Given the description of an element on the screen output the (x, y) to click on. 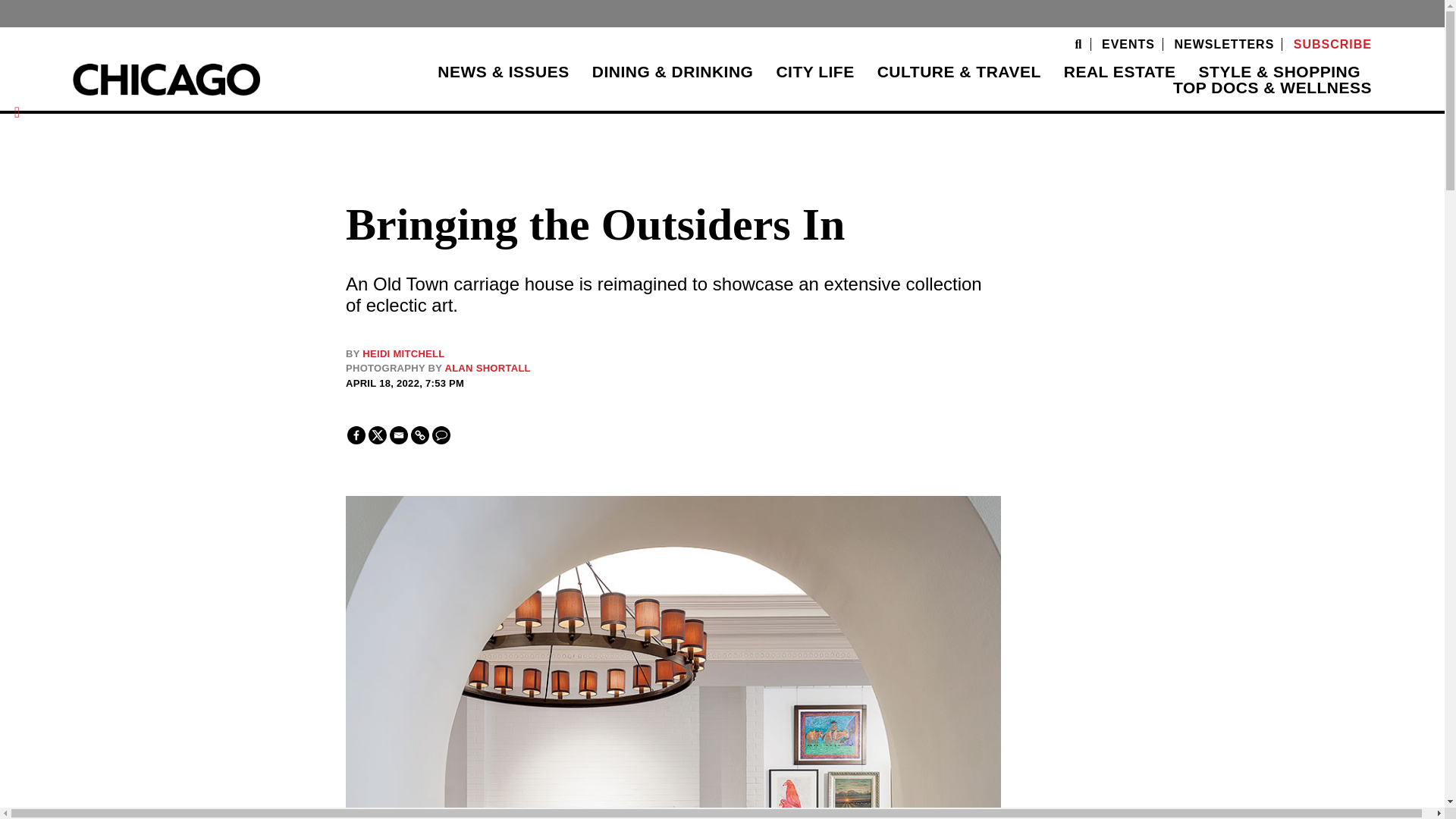
Facebook (356, 434)
NEWSLETTERS (1224, 43)
Email (398, 434)
comment (440, 434)
X (377, 434)
EVENTS (1128, 43)
Copy Link (419, 434)
